Given the description of an element on the screen output the (x, y) to click on. 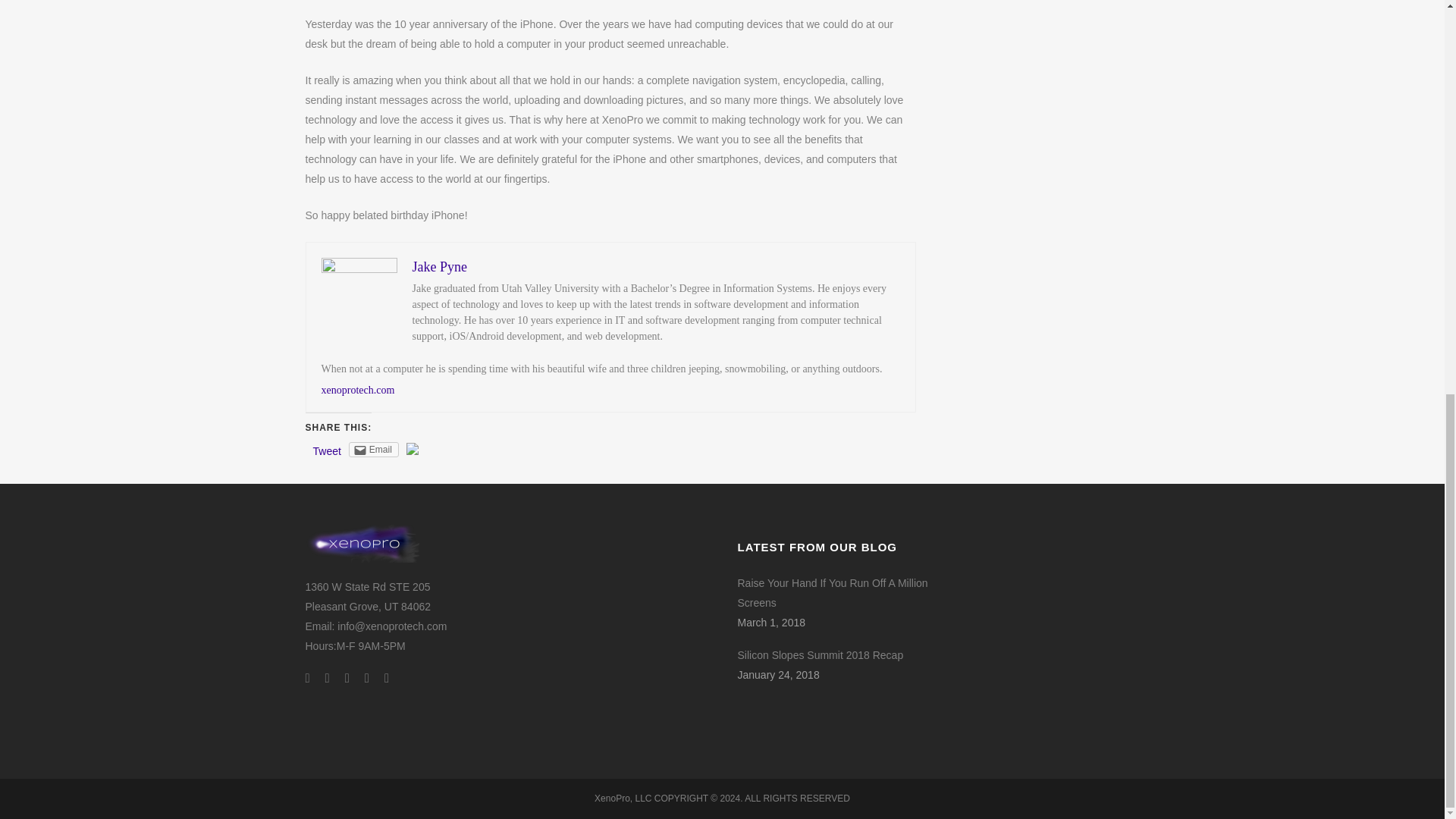
Click to email this to a friend (373, 449)
Tweet (326, 451)
Jake Pyne (439, 266)
Email (373, 449)
xenoprotech.com (357, 389)
